Given the description of an element on the screen output the (x, y) to click on. 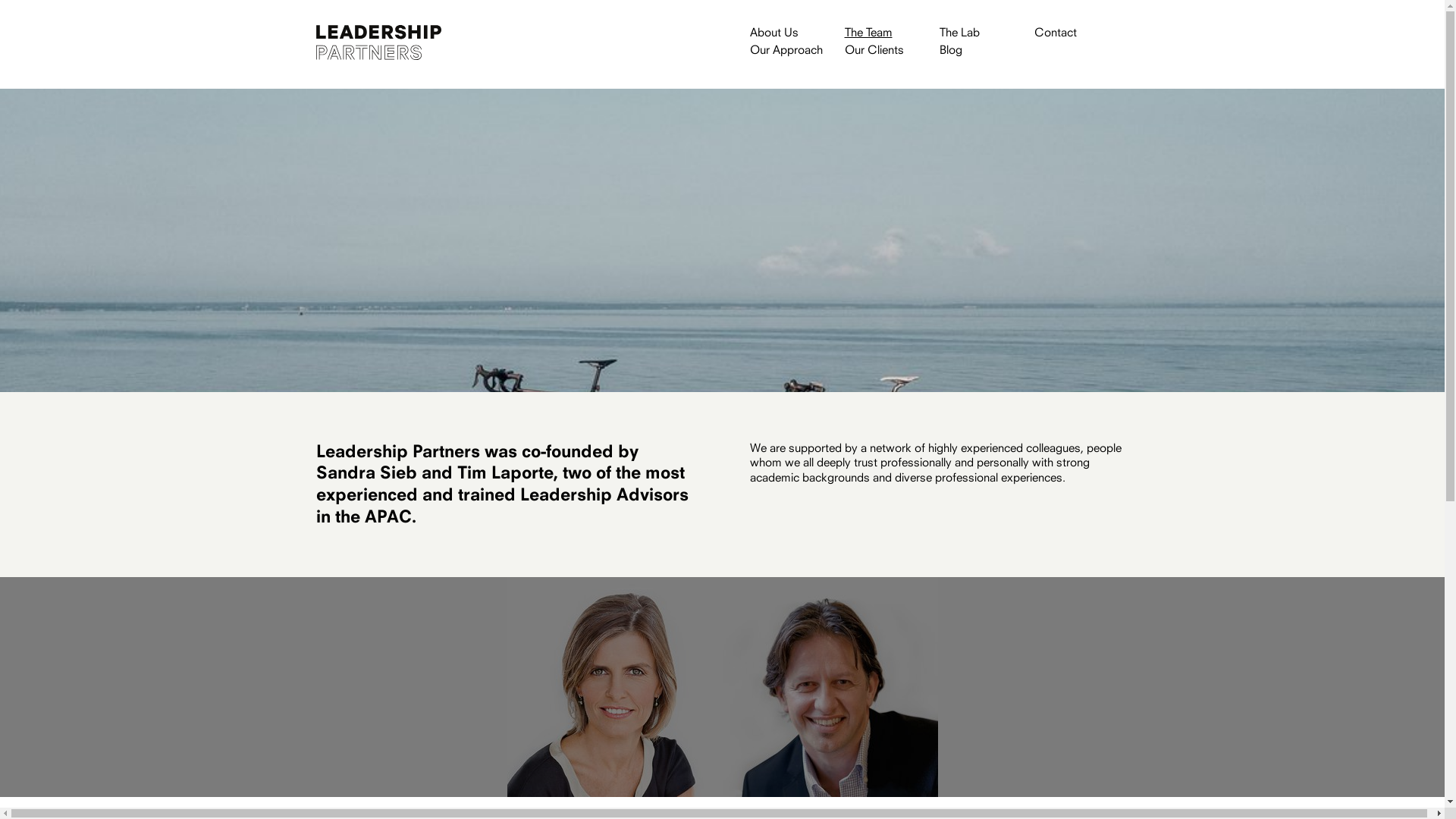
The Team Element type: text (891, 33)
About Us Element type: text (796, 33)
Contact Element type: text (1081, 33)
Our Approach Element type: text (796, 50)
Our Clients Element type: text (891, 50)
The Lab Element type: text (985, 33)
Leadership Partners Element type: hover (378, 42)
Blog Element type: text (985, 50)
